Given the description of an element on the screen output the (x, y) to click on. 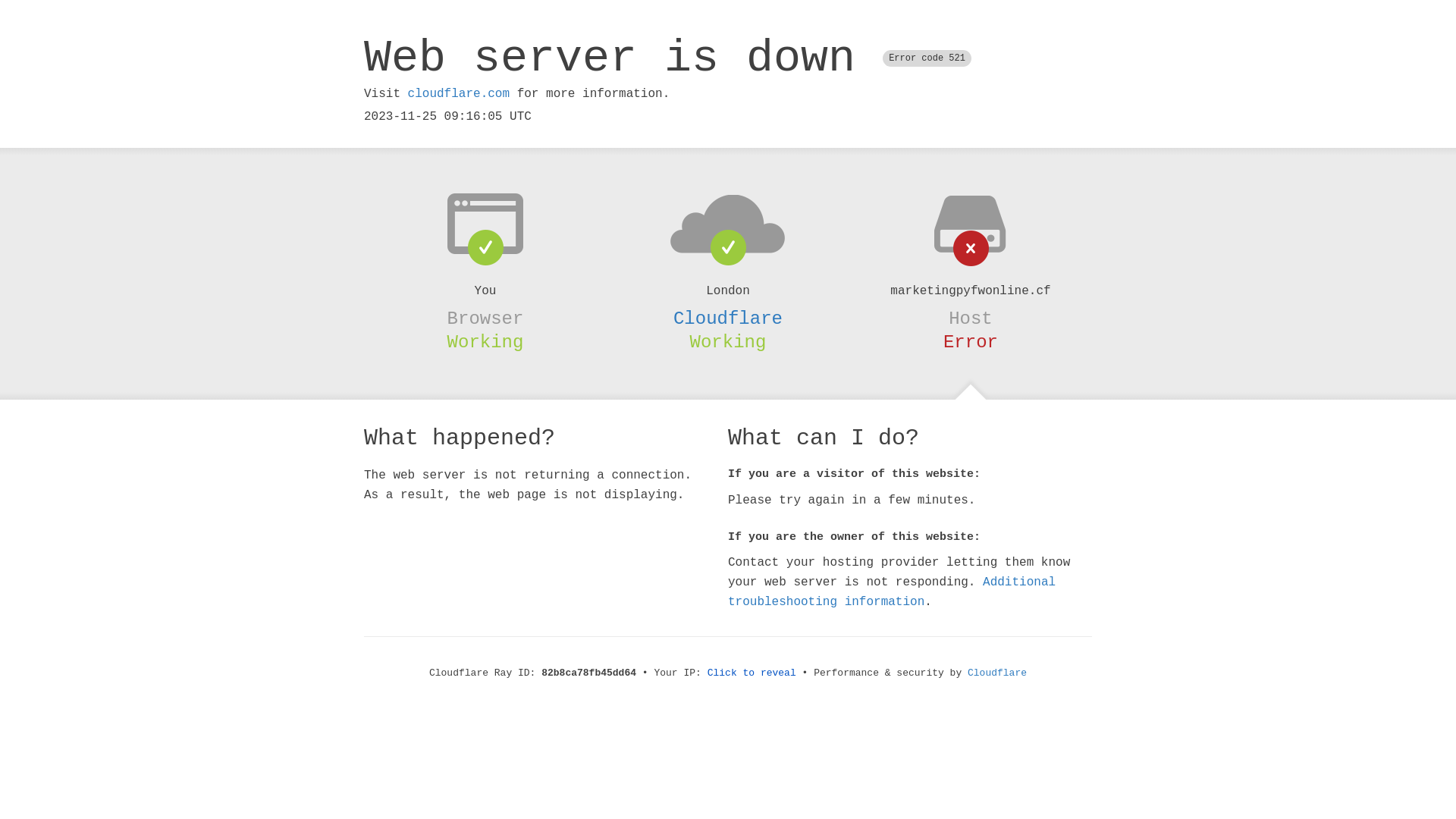
cloudflare.com Element type: text (458, 93)
Additional troubleshooting information Element type: text (891, 591)
Cloudflare Element type: text (996, 672)
Click to reveal Element type: text (751, 672)
Cloudflare Element type: text (727, 318)
